Given the description of an element on the screen output the (x, y) to click on. 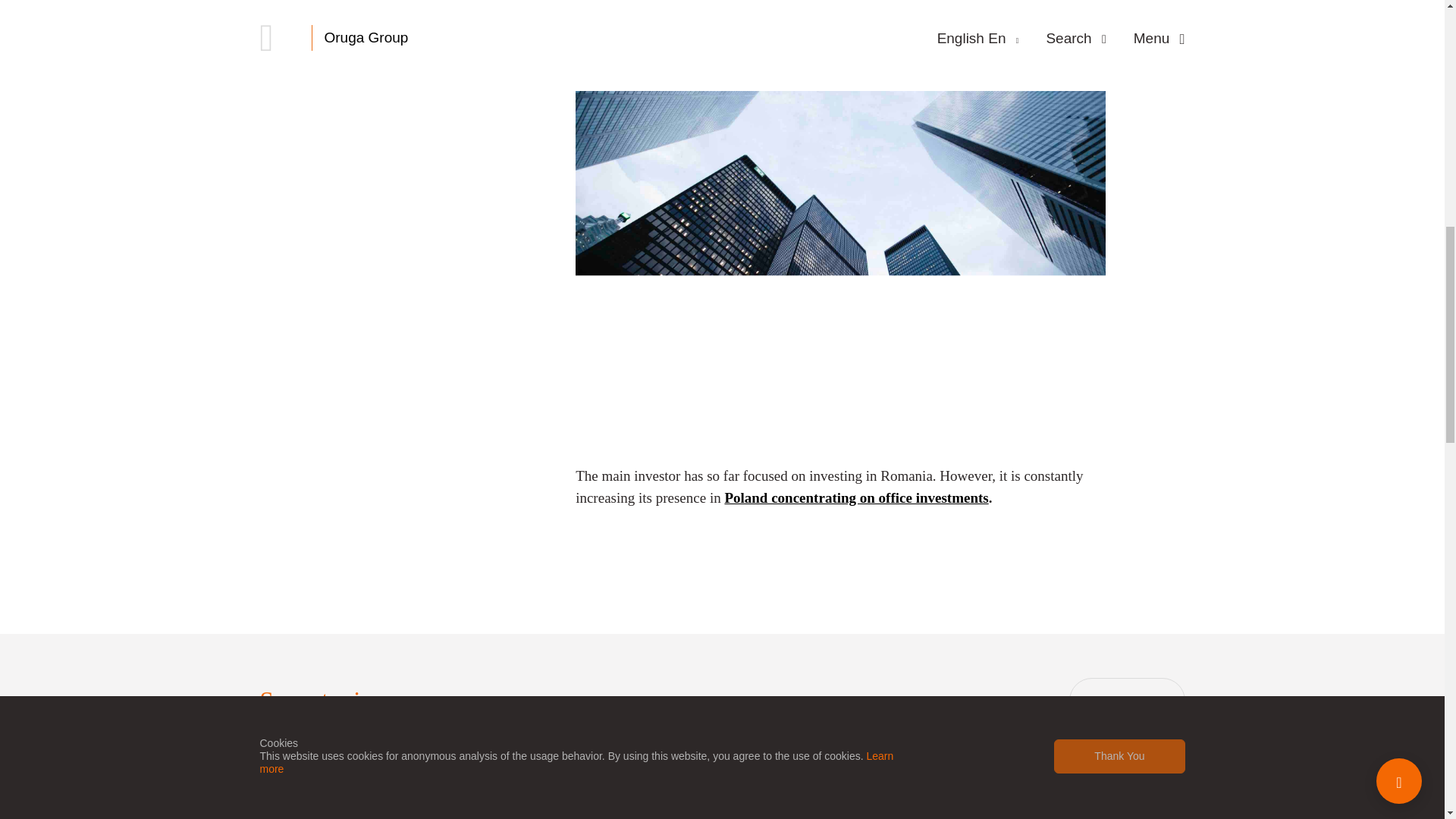
Poland concentrating on office investments (855, 497)
All Insights (1126, 700)
